Given the description of an element on the screen output the (x, y) to click on. 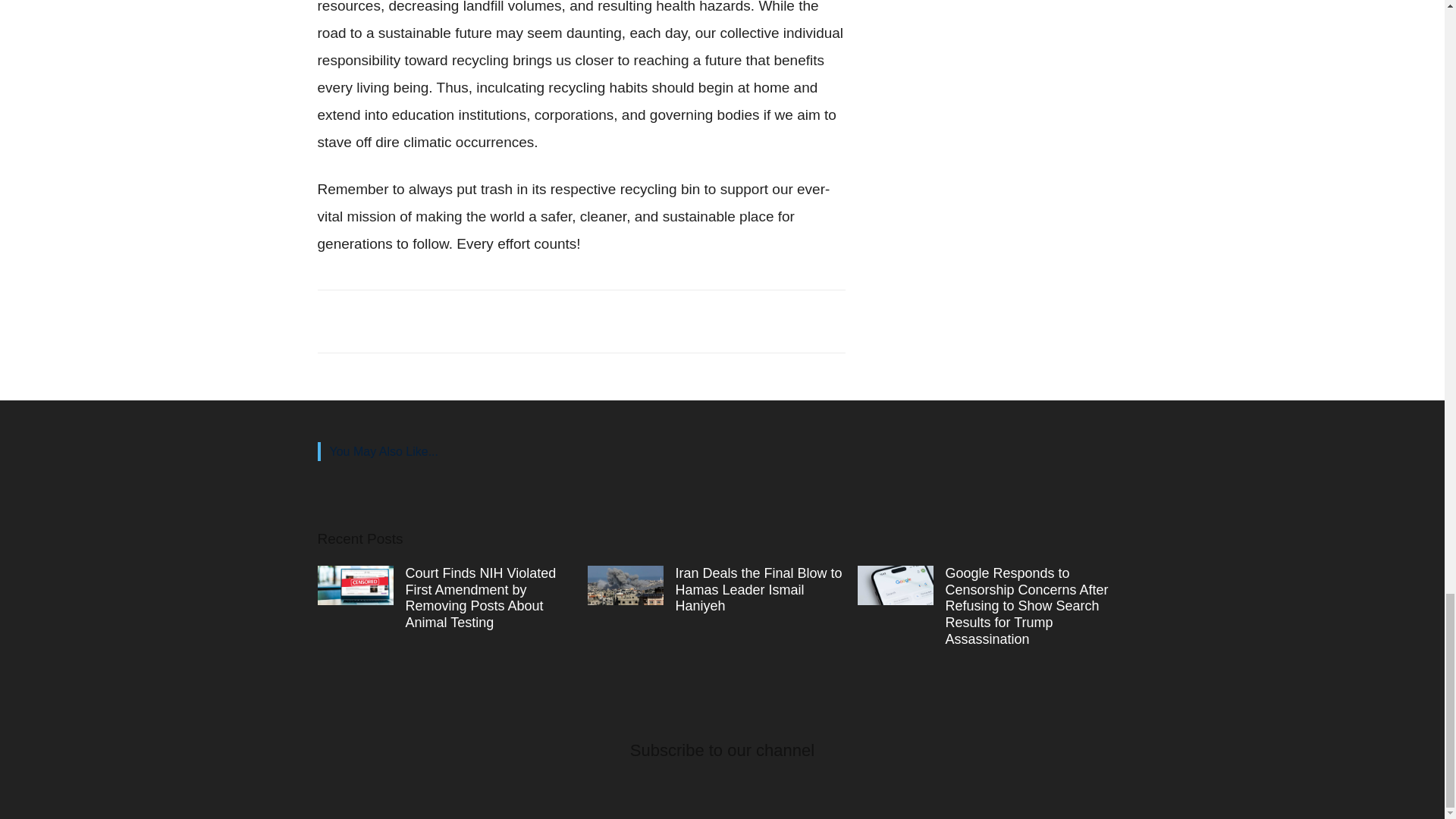
Iran Deals the Final Blow to Hamas Leader Ismail Haniyeh (759, 590)
